Given the description of an element on the screen output the (x, y) to click on. 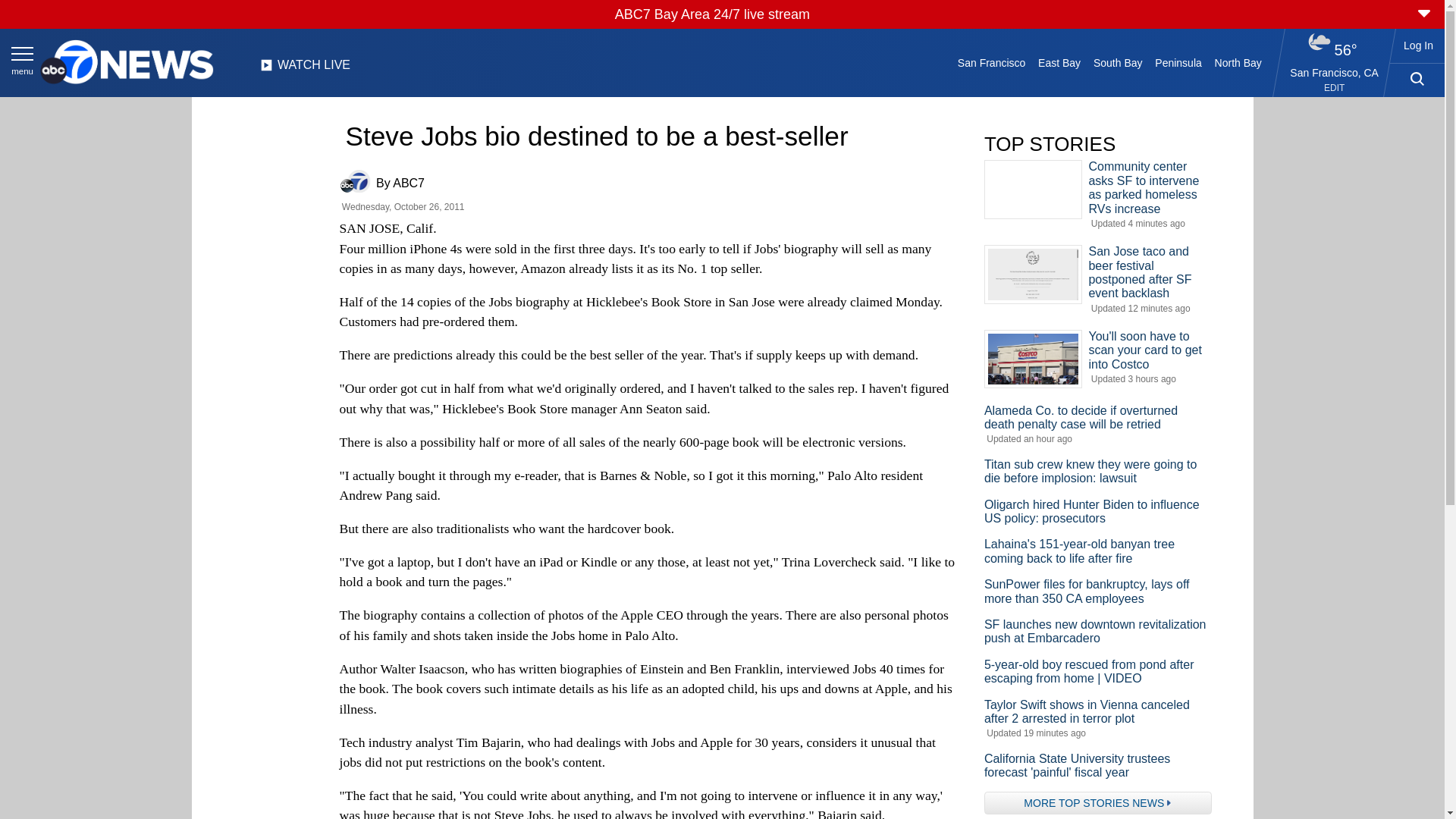
EDIT (1333, 87)
San Francisco (990, 62)
WATCH LIVE (305, 69)
East Bay (1059, 62)
San Francisco, CA (1334, 72)
South Bay (1117, 62)
North Bay (1238, 62)
Peninsula (1178, 62)
